Given the description of an element on the screen output the (x, y) to click on. 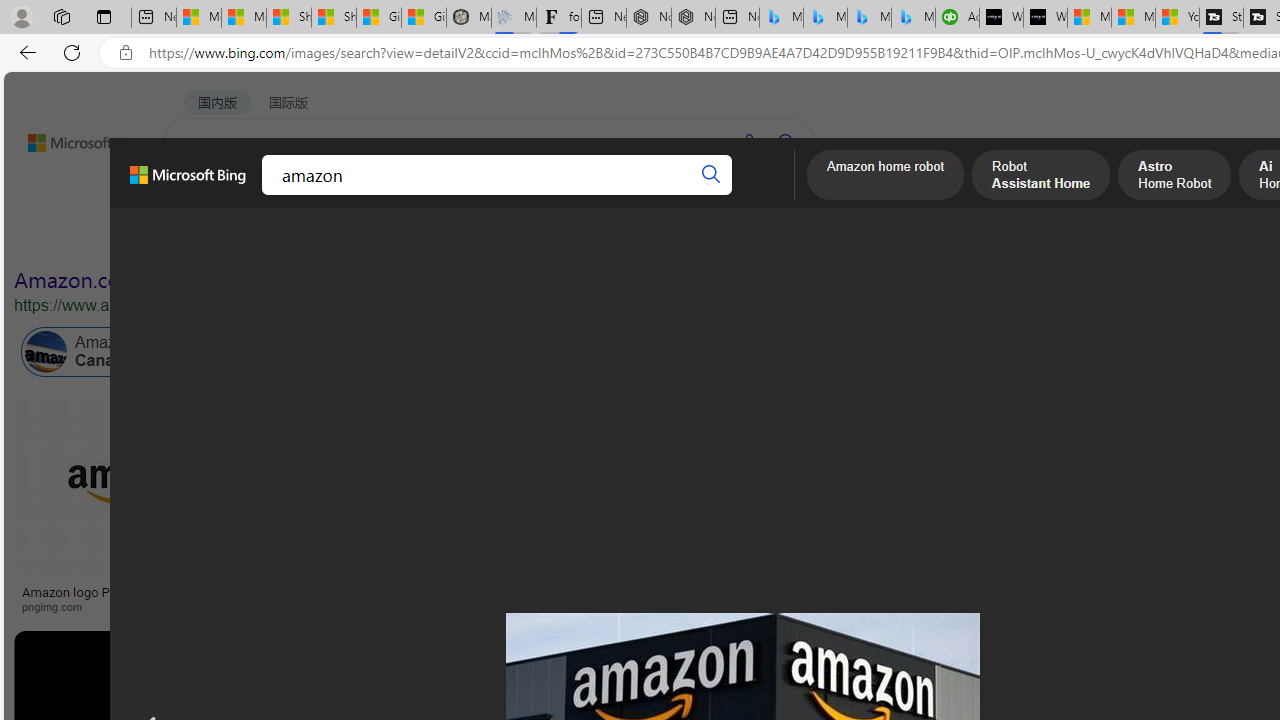
People (521, 237)
VIDEOS (458, 195)
Search button (712, 174)
DICT (630, 195)
mytotalretail.com (319, 605)
Echo Dot 4th Gen (1183, 465)
Amazon home robot (885, 177)
Color (305, 237)
Robot Assistant Home (1041, 177)
